Given the description of an element on the screen output the (x, y) to click on. 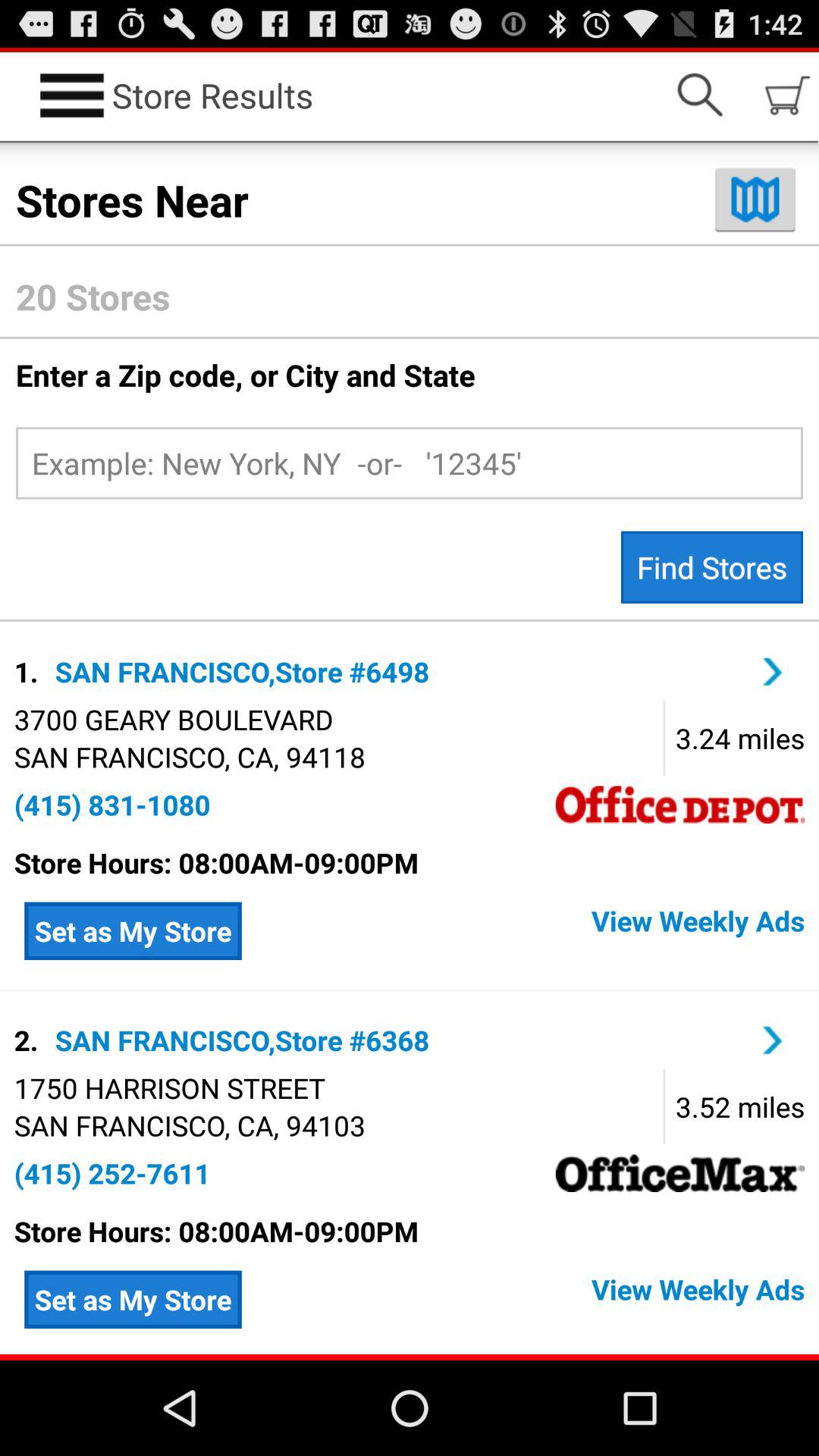
go to san francisco store 6498 (772, 671)
